Given the description of an element on the screen output the (x, y) to click on. 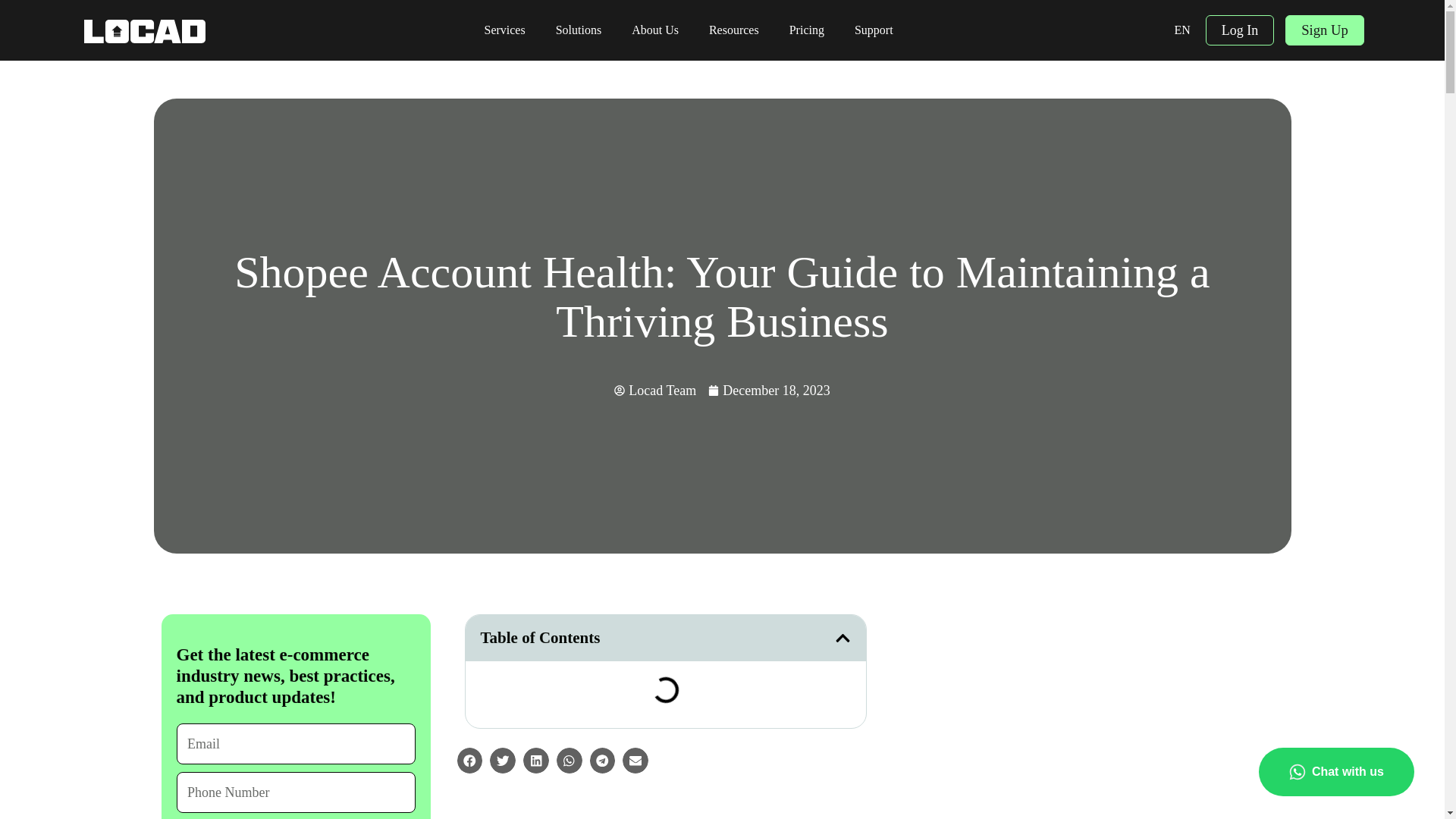
Services (504, 30)
Support (874, 30)
Solutions (577, 30)
About Us (654, 30)
Resources (734, 30)
Pricing (807, 30)
